Given the description of an element on the screen output the (x, y) to click on. 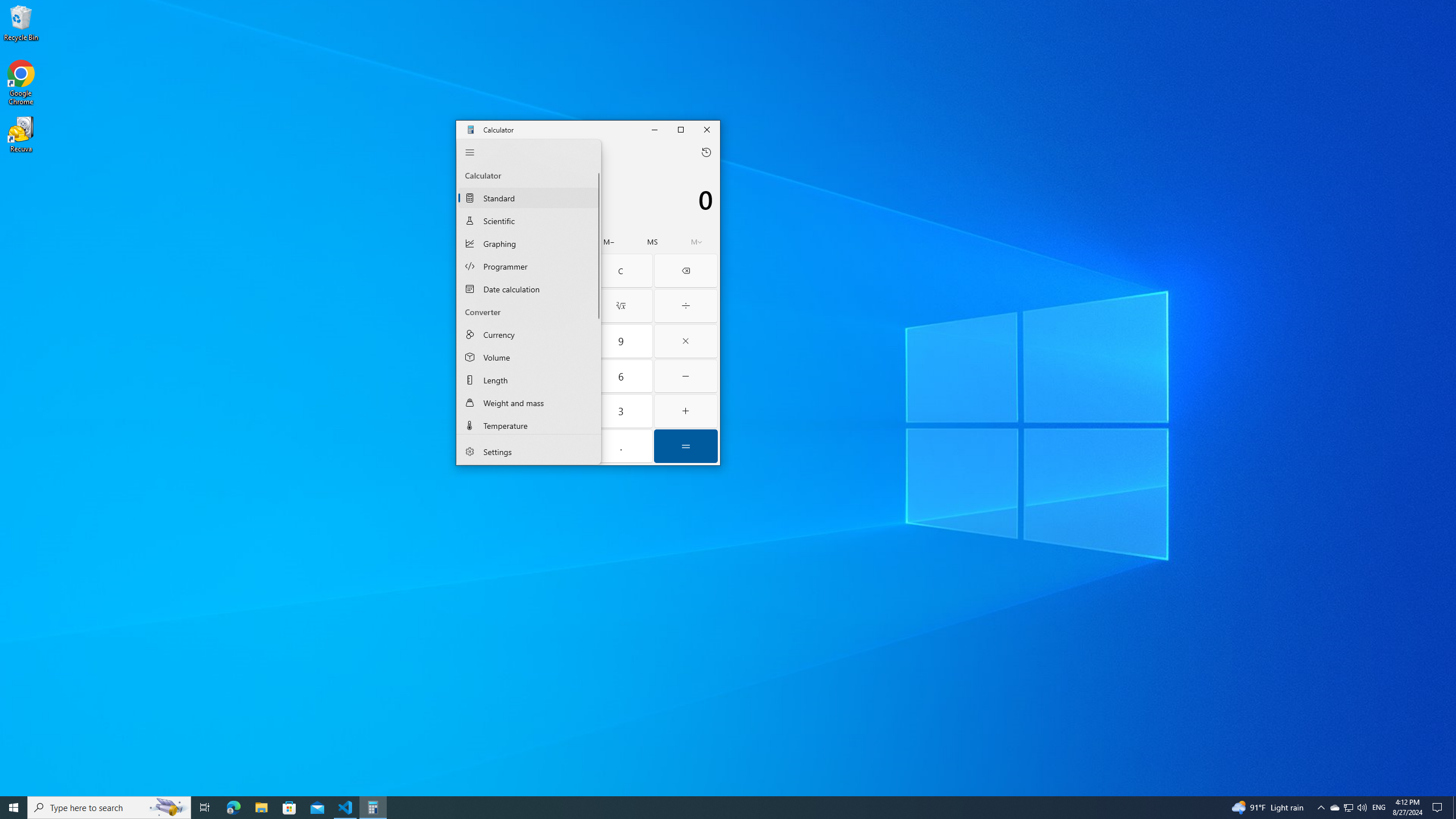
Vertical (597, 297)
Three (620, 410)
Open memory flyout (696, 241)
Square root (620, 305)
Close Navigation (469, 152)
One (490, 410)
Memory recall (522, 241)
Decimal separator (620, 445)
Eight (556, 341)
Square (556, 305)
Memory store (652, 241)
Close (587, 301)
Close Calculator (707, 129)
